Given the description of an element on the screen output the (x, y) to click on. 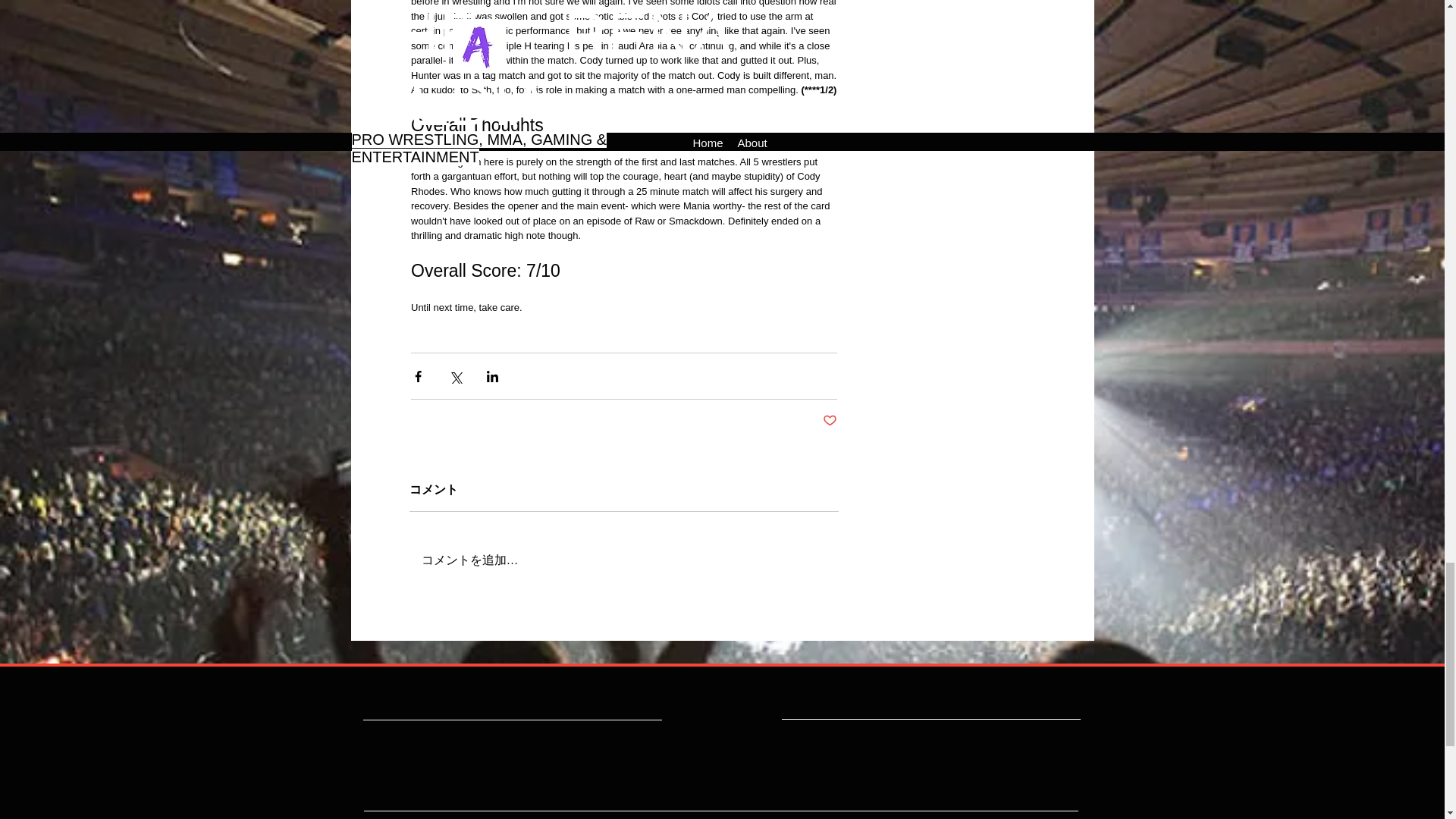
Post not marked as liked (828, 421)
